Given the description of an element on the screen output the (x, y) to click on. 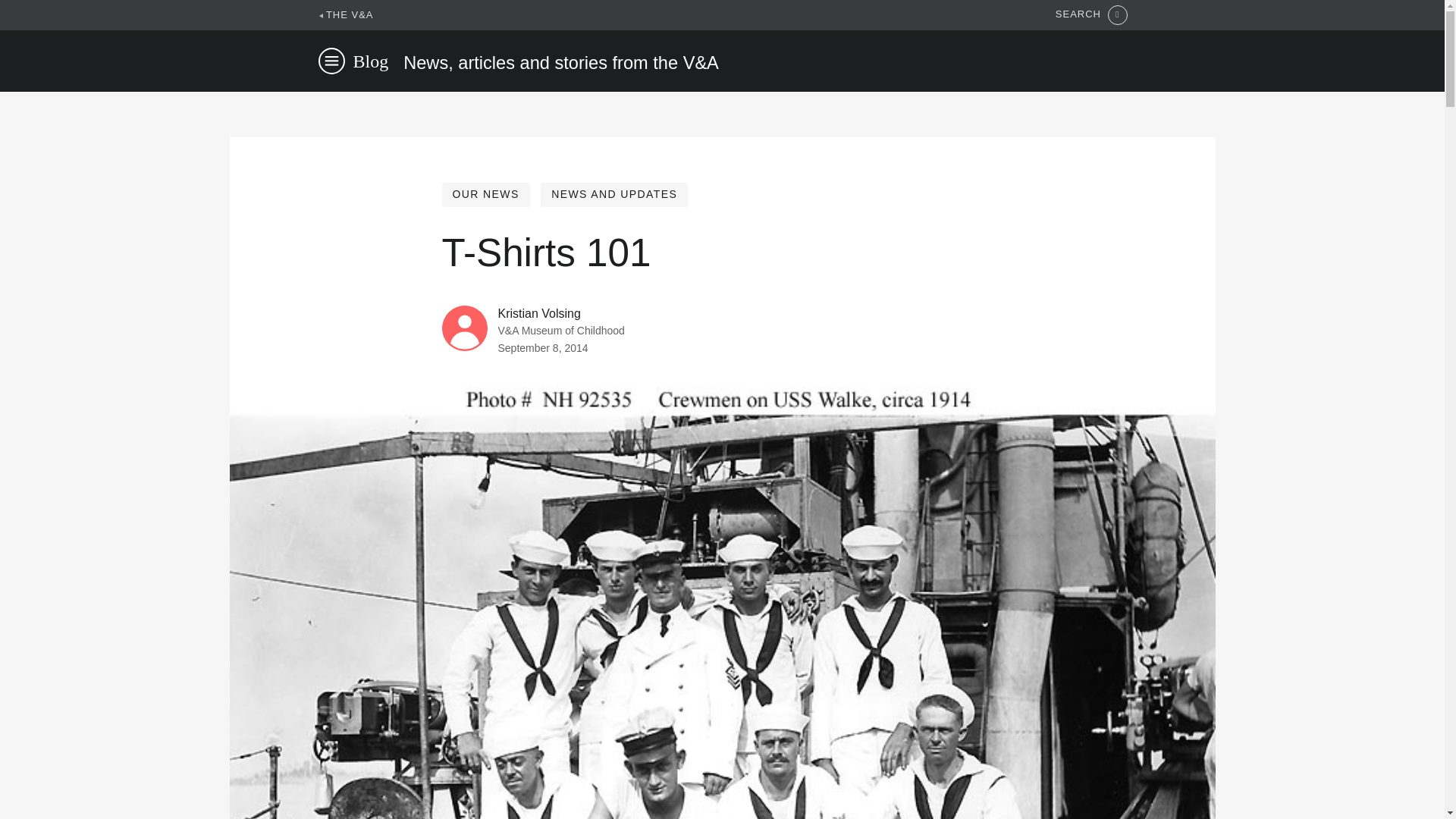
Blog (370, 60)
Posts by Kristian Volsing (538, 313)
OUR NEWS (485, 194)
SEARCH (1090, 15)
NEWS AND UPDATES (613, 194)
Kristian Volsing (538, 313)
